Given the description of an element on the screen output the (x, y) to click on. 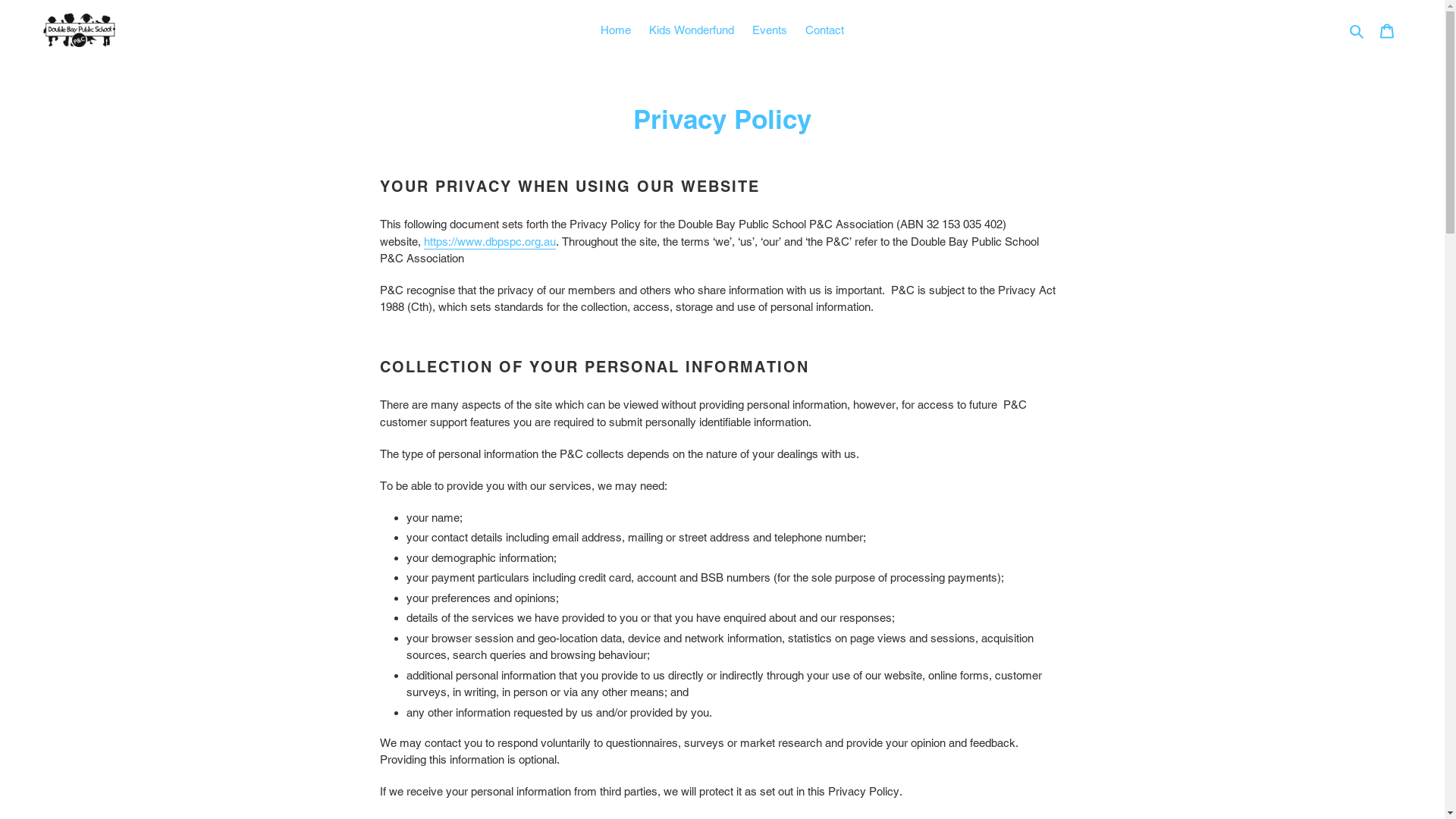
https://www.dbpspc.org.au Element type: text (489, 242)
Events Element type: text (769, 30)
Home Element type: text (615, 30)
Contact Element type: text (824, 30)
Kids Wonderfund Element type: text (691, 30)
Cart Element type: text (1386, 30)
Search Element type: text (1357, 30)
